Given the description of an element on the screen output the (x, y) to click on. 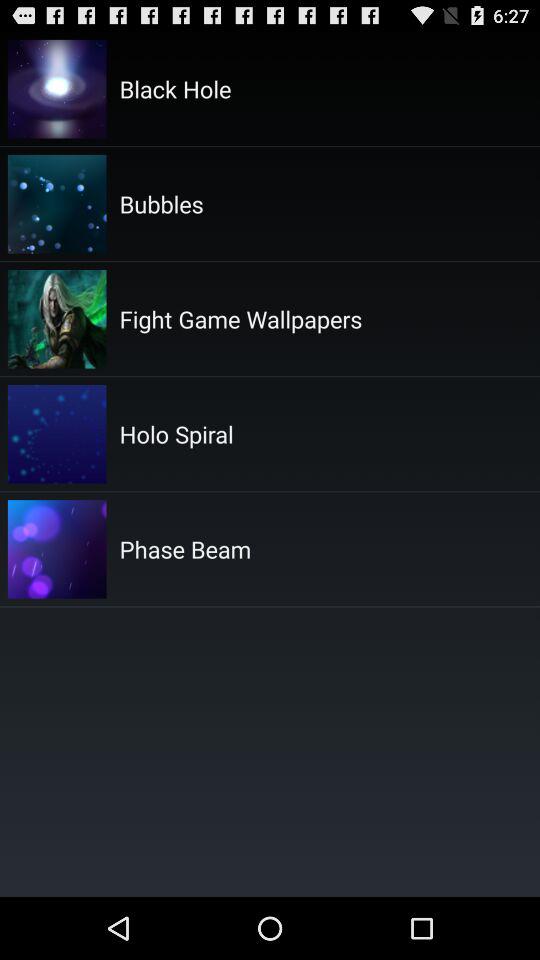
turn on item below the fight game wallpapers icon (176, 434)
